Given the description of an element on the screen output the (x, y) to click on. 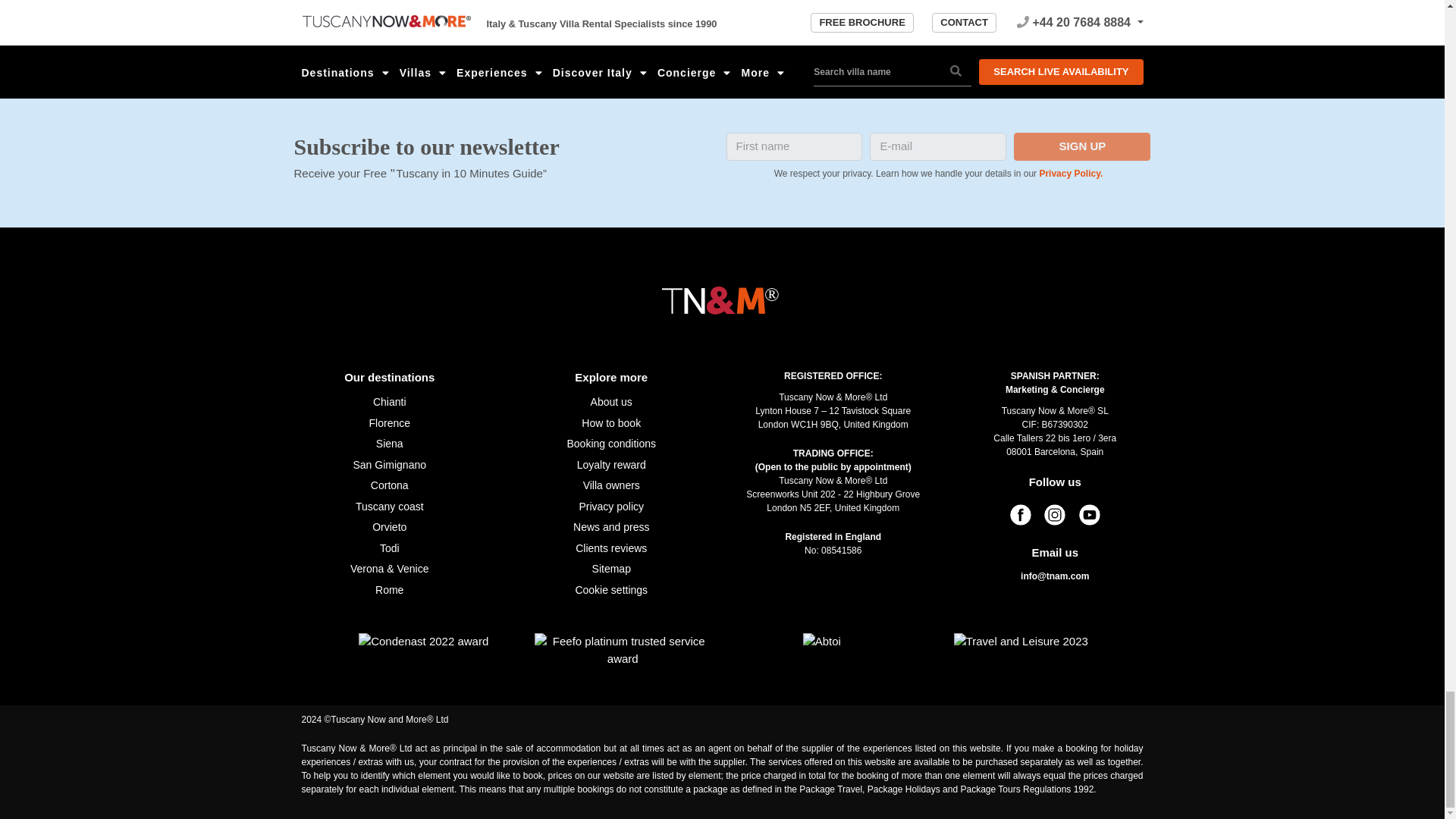
SIGN UP (1081, 146)
